Given the description of an element on the screen output the (x, y) to click on. 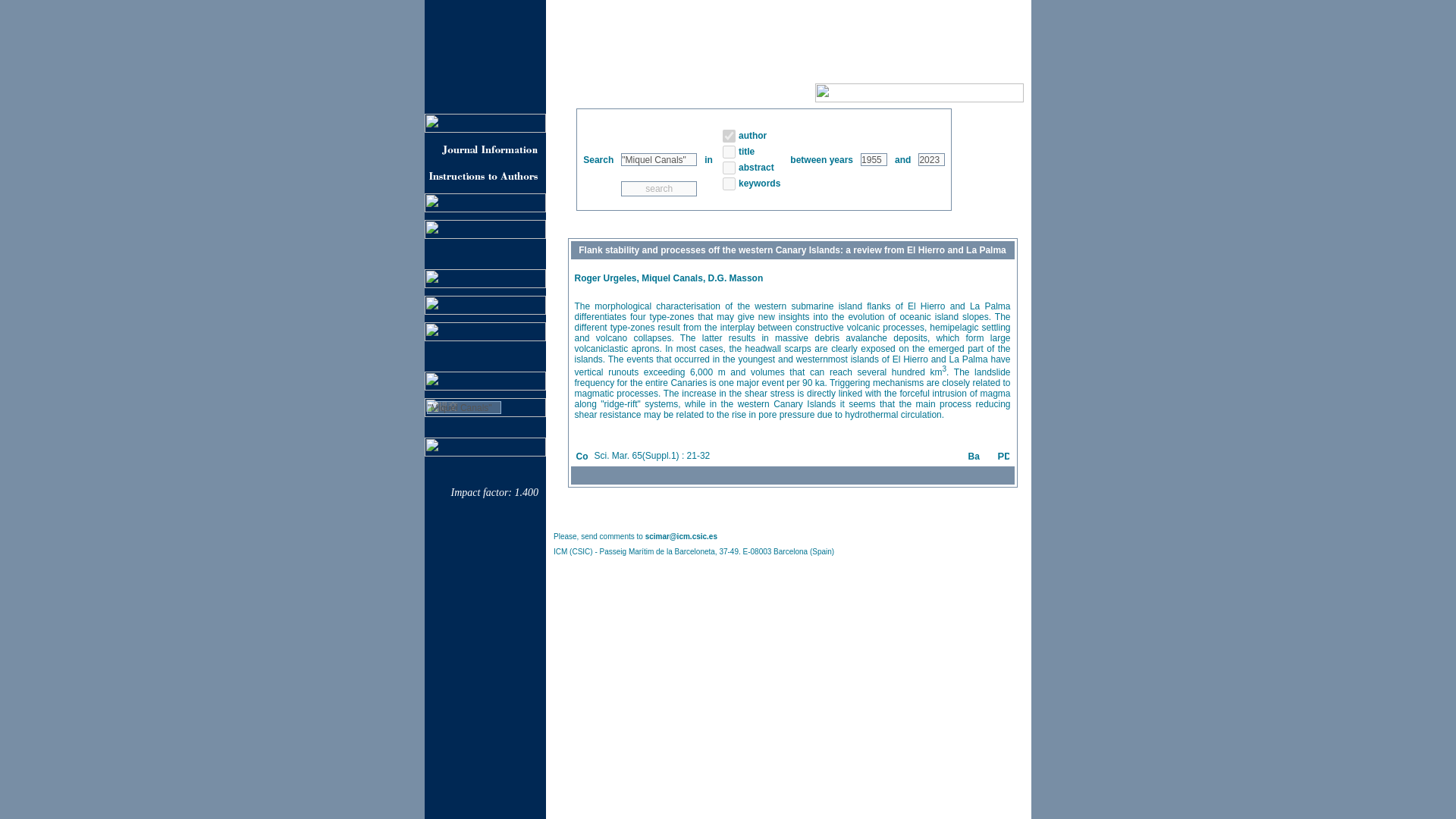
1 (728, 151)
1955 (873, 159)
1 (728, 183)
search (659, 188)
search (659, 188)
"Miquel Canals" (659, 159)
1 (728, 166)
"Miquel Canals" (463, 407)
2023 (931, 159)
1 (728, 134)
